Given the description of an element on the screen output the (x, y) to click on. 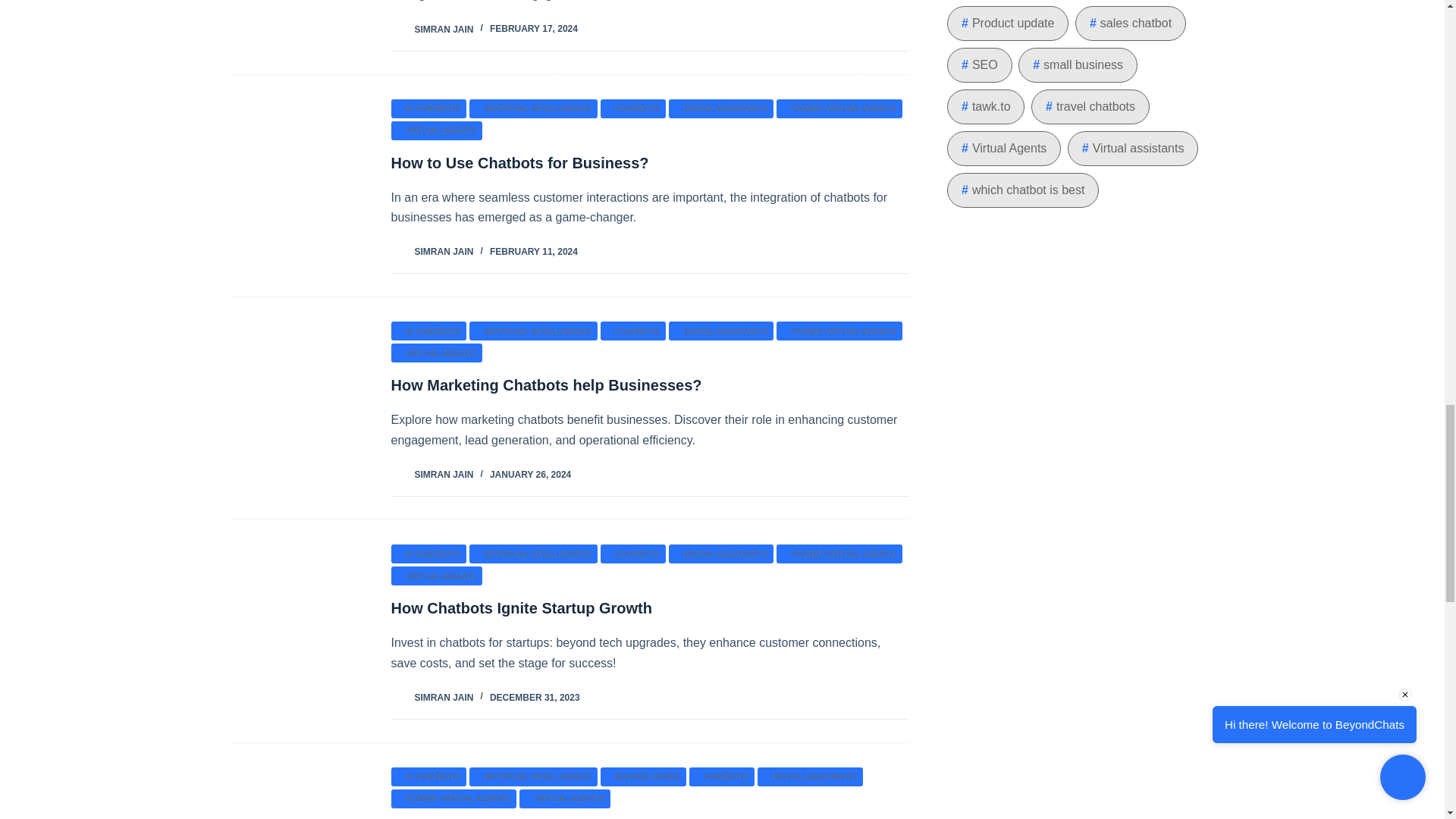
Posts by Simran Jain (444, 251)
How Chatbots Ignite Startup Growth 10 (300, 631)
How Marketing Chatbots help Businesses? 9 (300, 408)
How to Use Chatbots for Business? 8 (300, 185)
Posts by Simran Jain (444, 697)
Posts by Simran Jain (444, 474)
Posts by Simran Jain (444, 28)
